Given the description of an element on the screen output the (x, y) to click on. 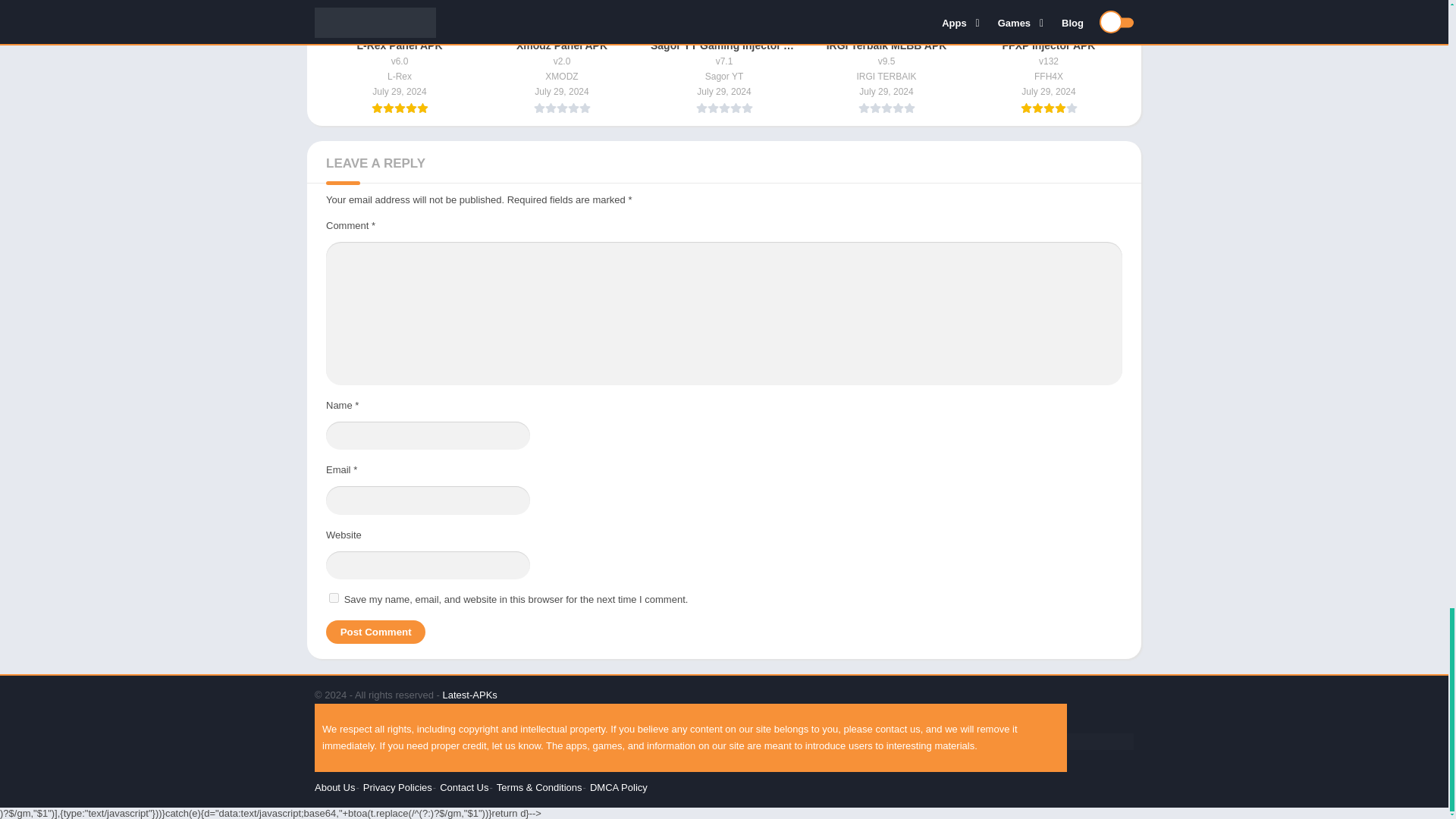
yes (334, 597)
Post Comment (375, 631)
Xmodz Panel APK (560, 57)
L-Rex Panel APK (399, 57)
L-Rex Panel APK 2 (399, 15)
